Given the description of an element on the screen output the (x, y) to click on. 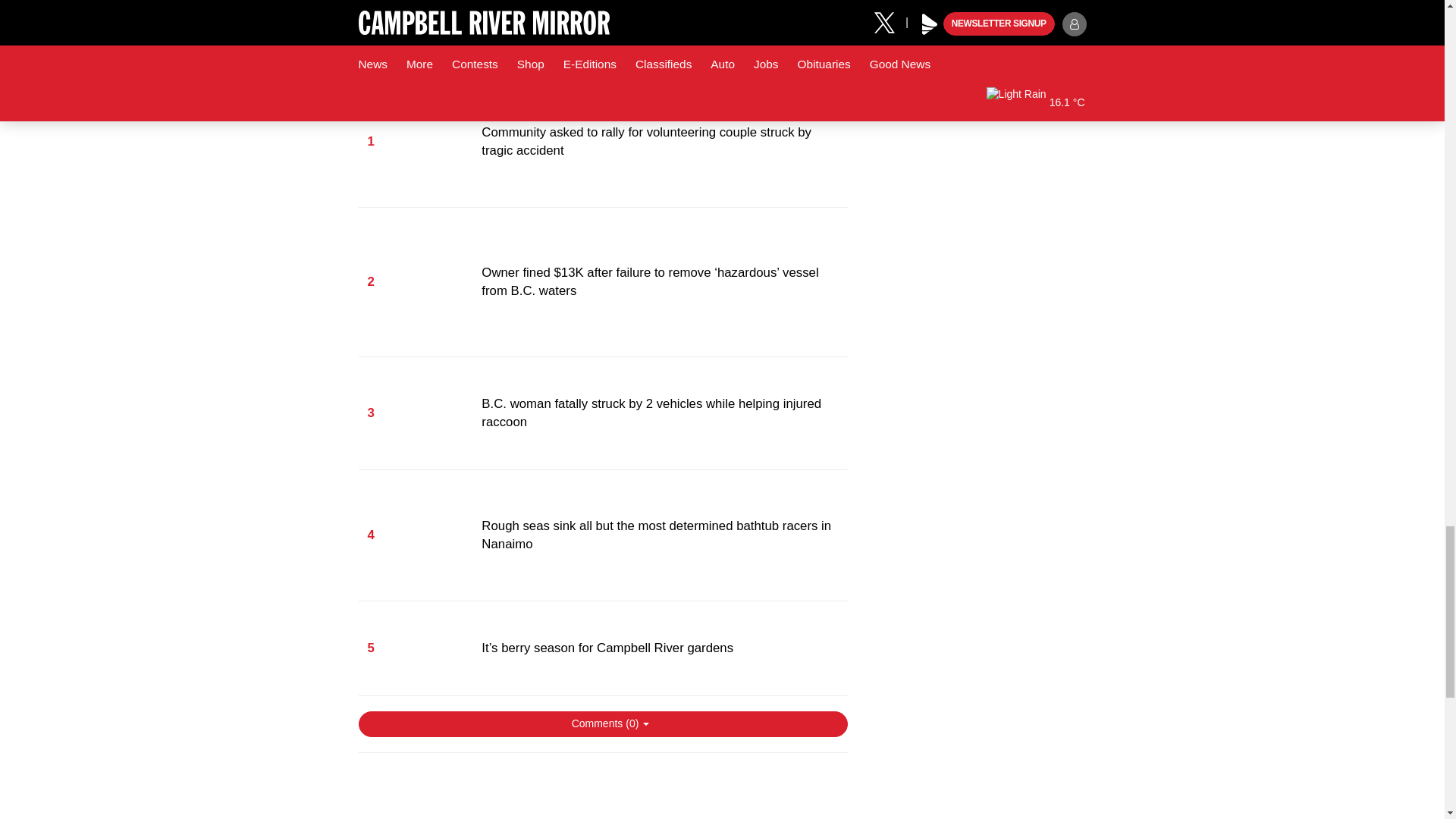
Show Comments (602, 724)
